Given the description of an element on the screen output the (x, y) to click on. 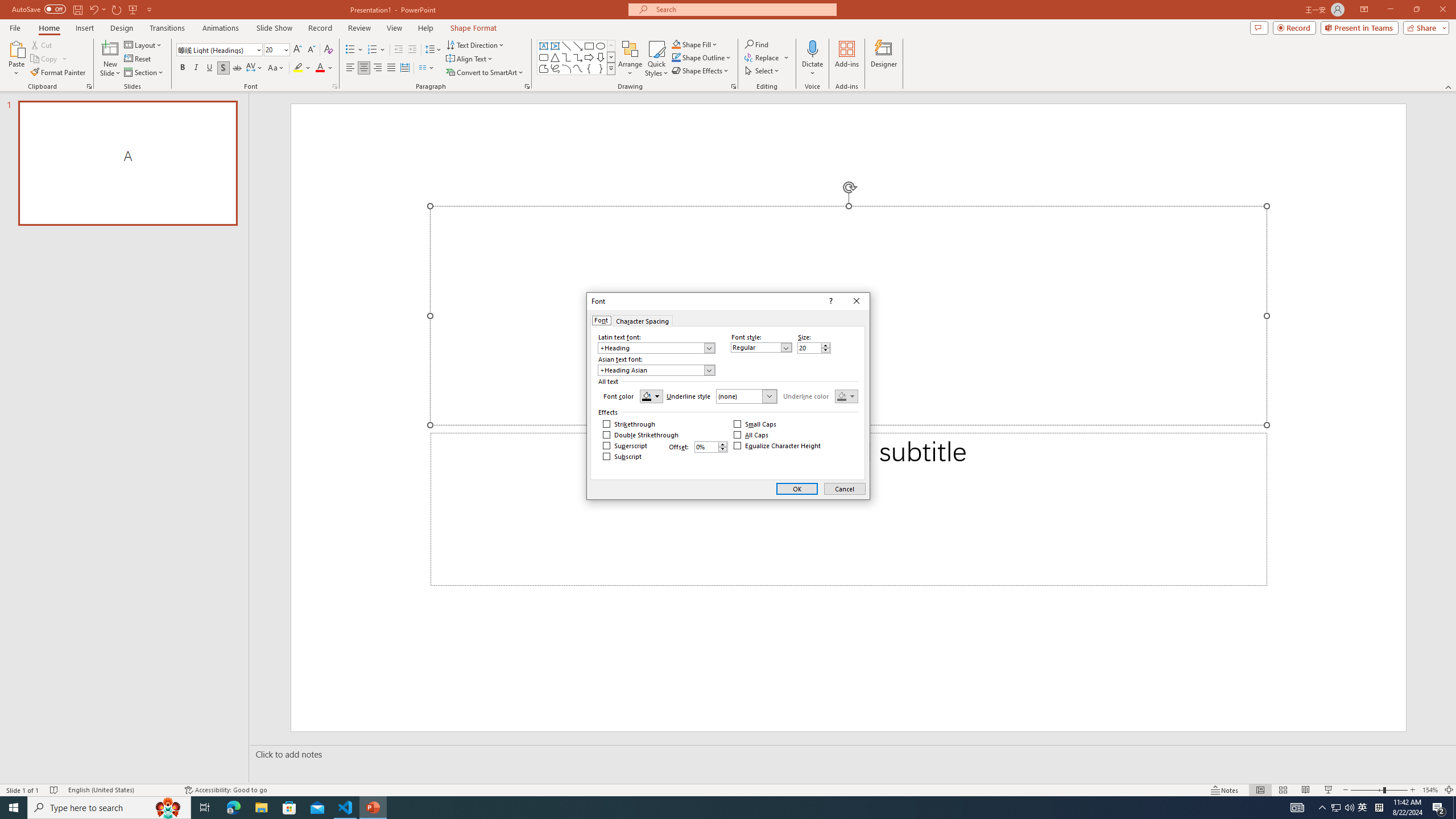
Latin text font (651, 347)
